Given the description of an element on the screen output the (x, y) to click on. 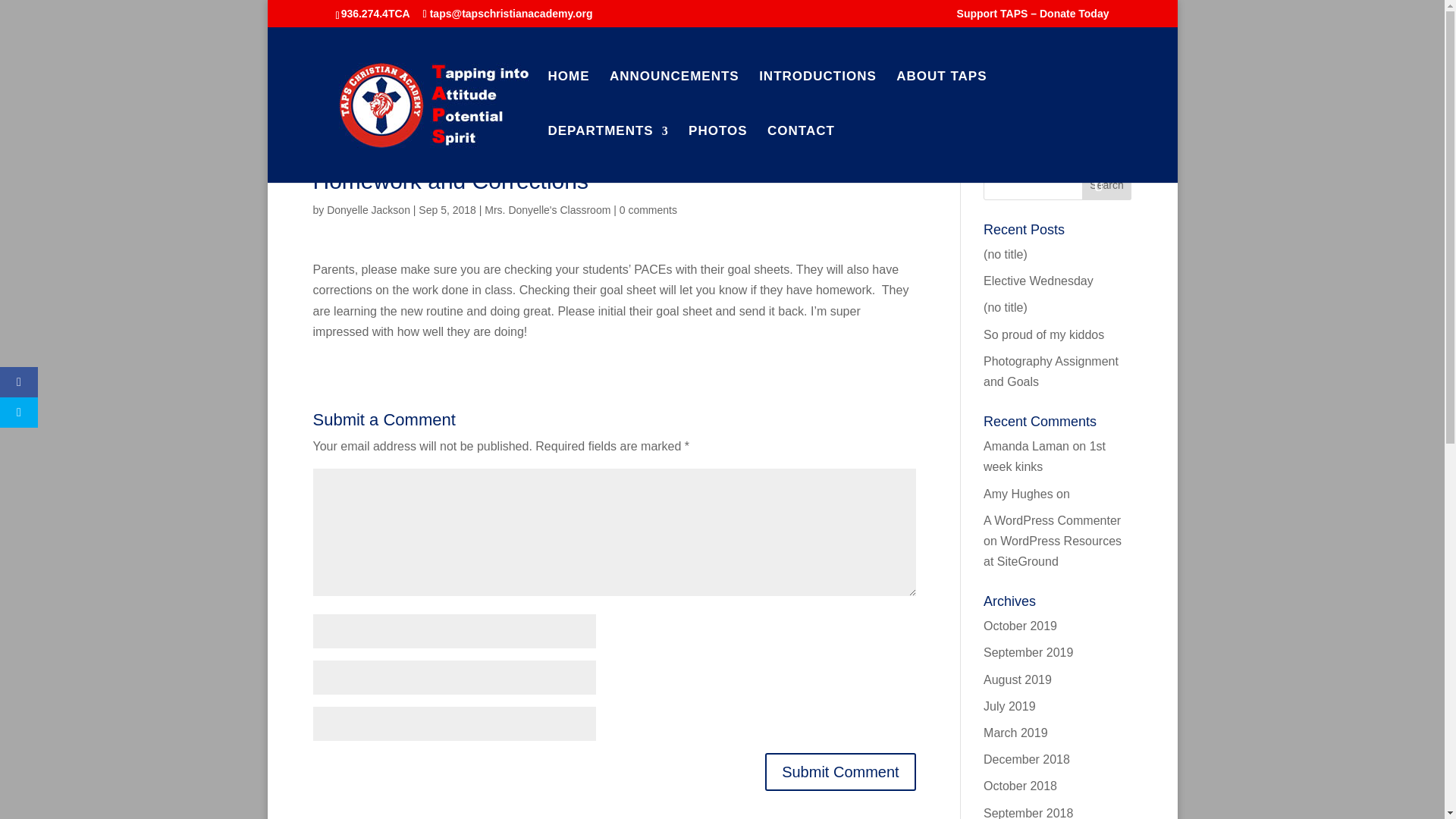
INTRODUCTIONS (817, 98)
Photography Assignment and Goals (1051, 371)
A WordPress Commenter (1052, 520)
ANNOUNCEMENTS (674, 98)
0 comments (648, 209)
ABOUT TAPS (941, 98)
Search (1106, 184)
DEPARTMENTS (607, 153)
CONTACT (800, 153)
Search (1106, 184)
